Given the description of an element on the screen output the (x, y) to click on. 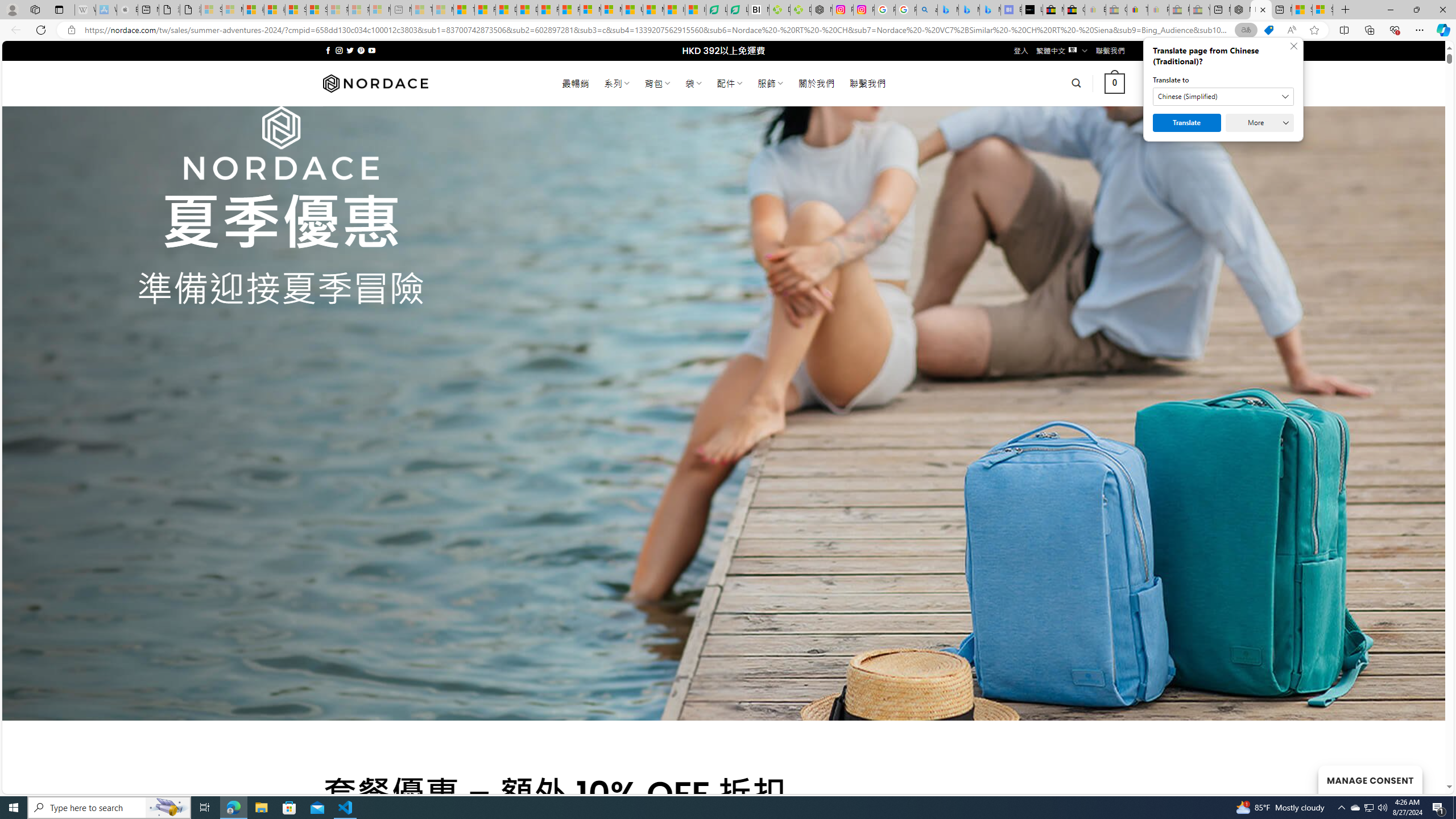
Translate to (1223, 96)
alabama high school quarterback dies - Search (926, 9)
New tab - Sleeping (400, 9)
Nvidia va a poner a prueba la paciencia de los inversores (759, 9)
Nordace - Nordace Edin Collection (821, 9)
